Given the description of an element on the screen output the (x, y) to click on. 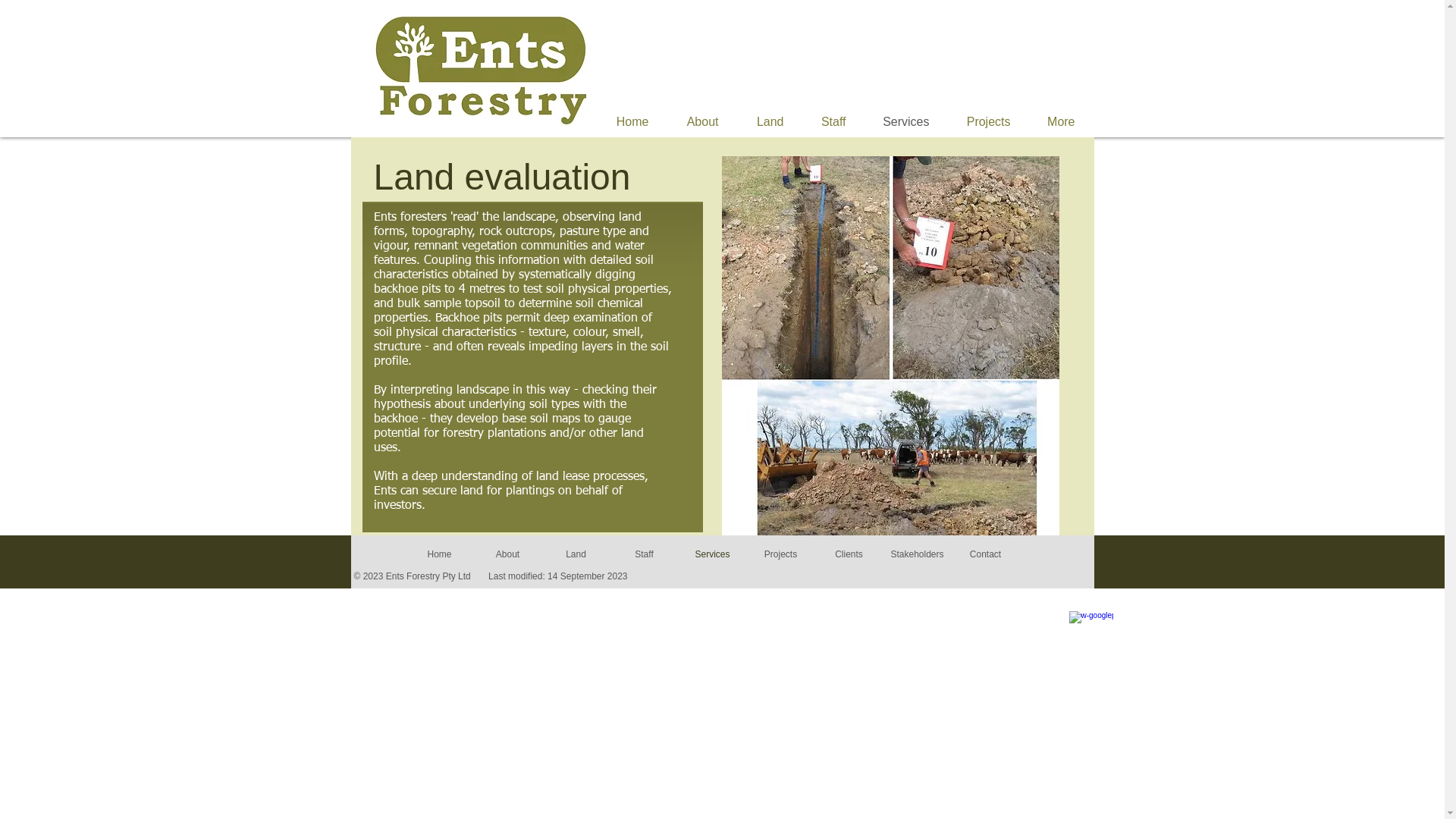
Home Element type: text (438, 553)
Contact Element type: text (984, 553)
Projects Element type: text (985, 121)
Services Element type: text (902, 121)
Stakeholders Element type: text (916, 553)
Staff Element type: text (830, 121)
Land Element type: text (575, 553)
About Element type: text (507, 553)
Land Element type: text (766, 121)
Staff Element type: text (643, 553)
Ents Forestry Logo Element type: hover (480, 70)
Clients Element type: text (848, 553)
Home Element type: text (628, 121)
Services Element type: text (711, 553)
About Element type: text (699, 121)
Projects Element type: text (780, 553)
